Given the description of an element on the screen output the (x, y) to click on. 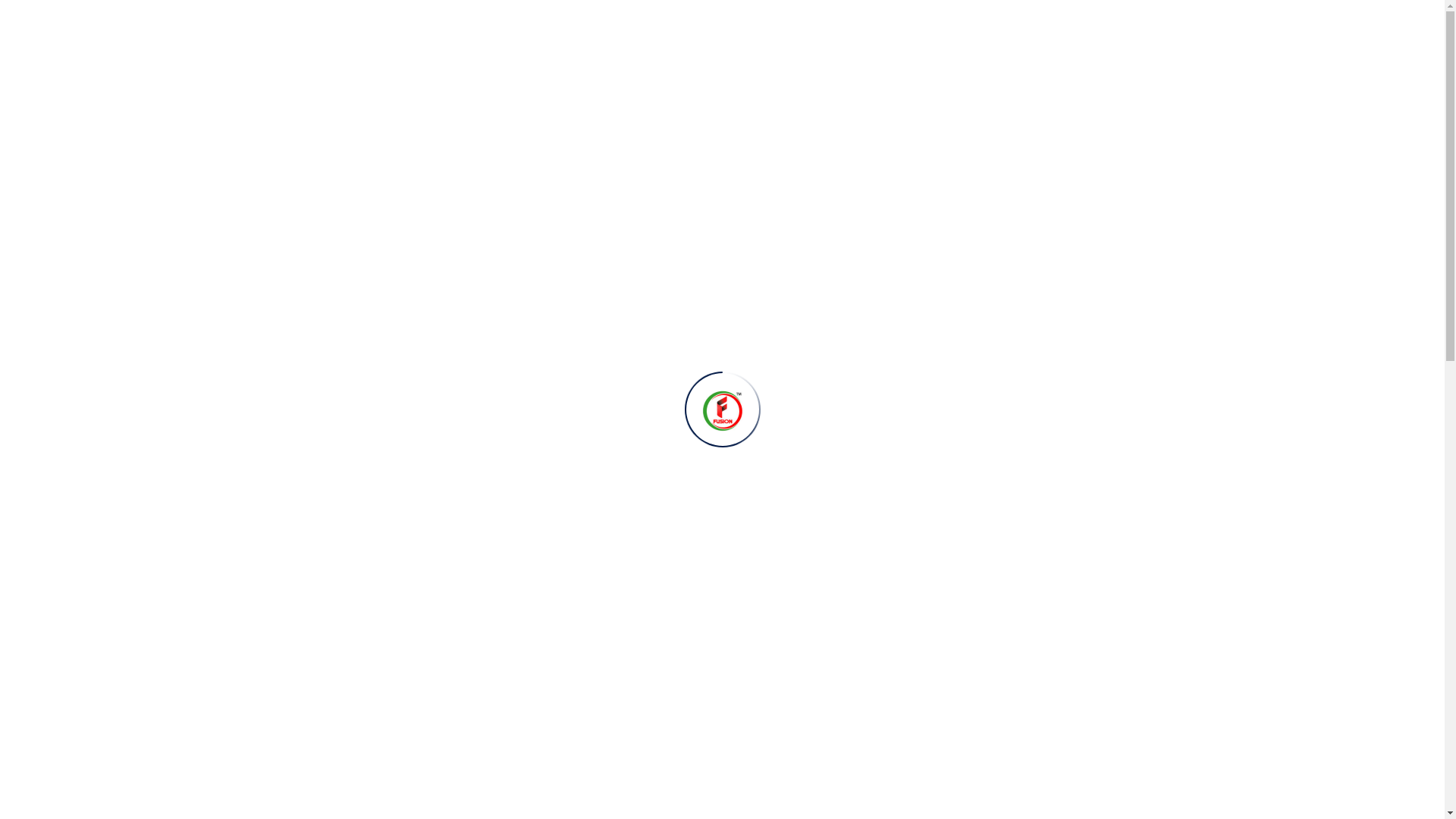
BUSINESS CONCERN Element type: text (600, 220)
HOME Element type: text (327, 220)
OUR PATRONS Element type: text (767, 220)
CONTACT Element type: text (963, 220)
 FIND  Element type: text (18, 0)
ABOUT US Element type: text (441, 220)
CSR Element type: text (872, 220)
